Given the description of an element on the screen output the (x, y) to click on. 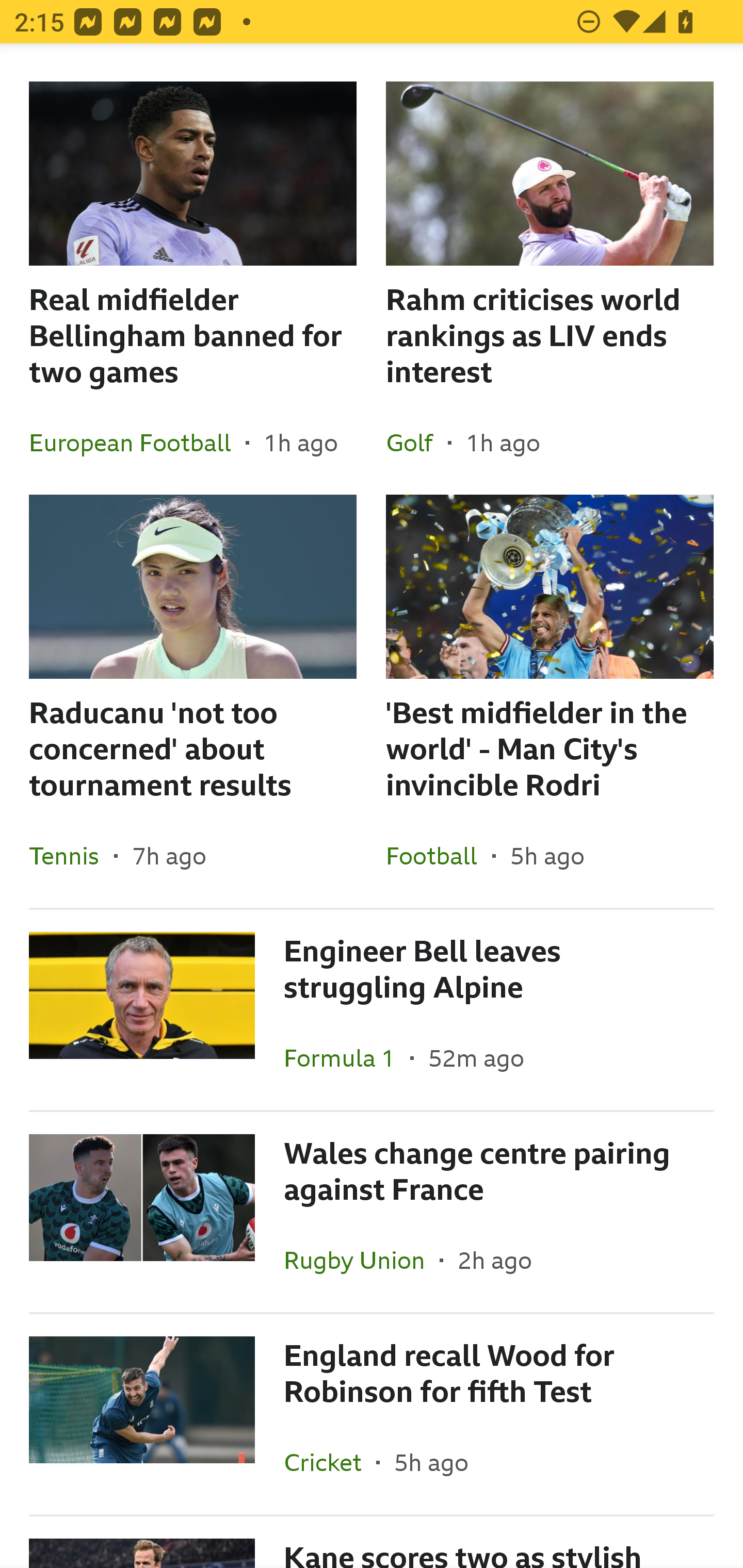
European Football In the section European Football (136, 441)
Golf In the section Golf (416, 441)
Tennis In the section Tennis (70, 854)
Football In the section Football (438, 854)
Formula 1 In the section Formula 1 (346, 1057)
Rugby Union In the section Rugby Union (361, 1259)
Cricket In the section Cricket (329, 1461)
